Given the description of an element on the screen output the (x, y) to click on. 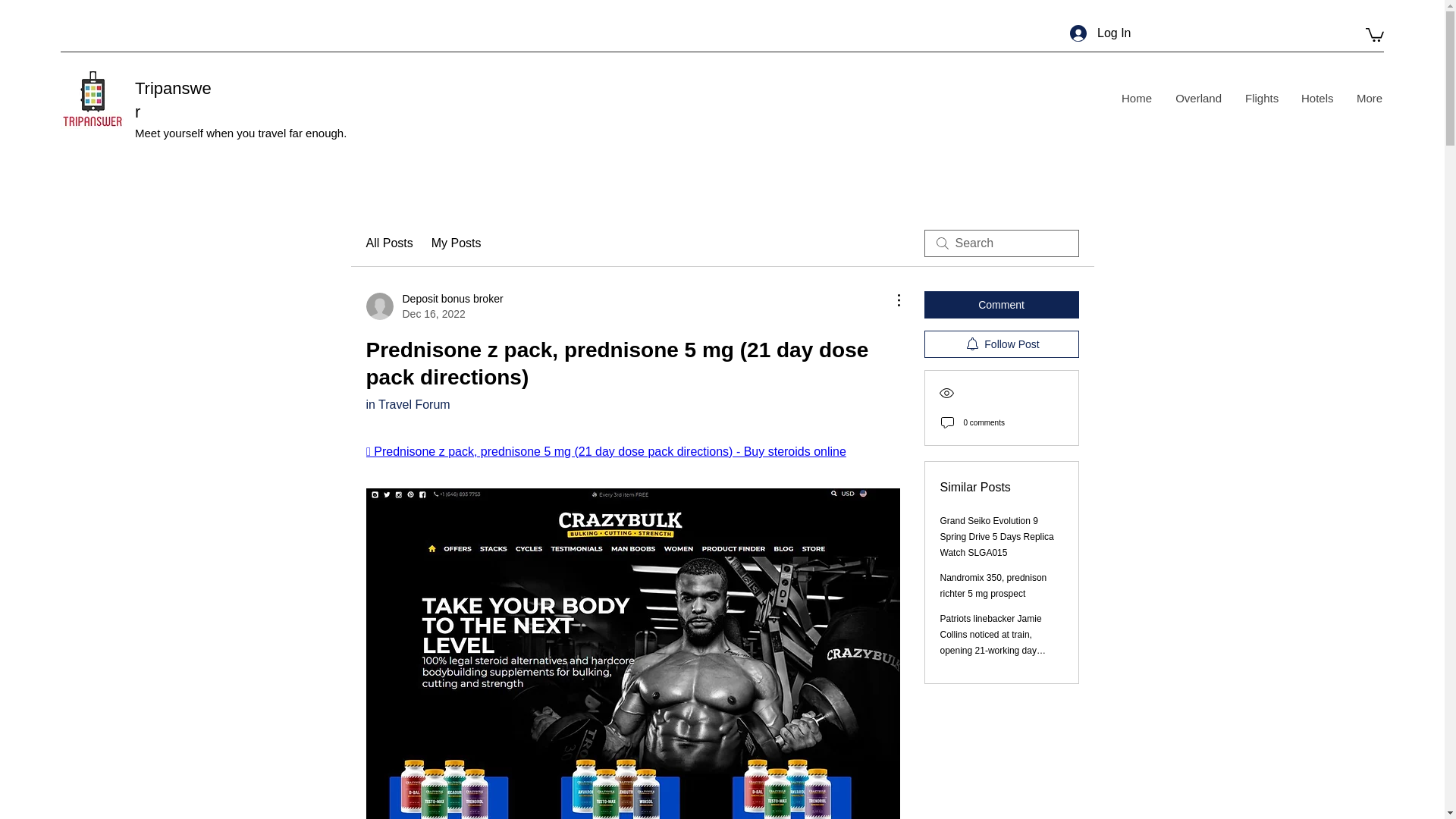
Comment (1000, 304)
Overland (1198, 97)
Nandromix 350, prednison richter 5 mg prospect (993, 585)
in Travel Forum (433, 306)
Log In (407, 404)
All Posts (1100, 32)
Flights (388, 243)
Follow Post (1260, 97)
My Posts (1000, 343)
Tripanswer (455, 243)
Home (173, 99)
Hotels (1136, 97)
